Given the description of an element on the screen output the (x, y) to click on. 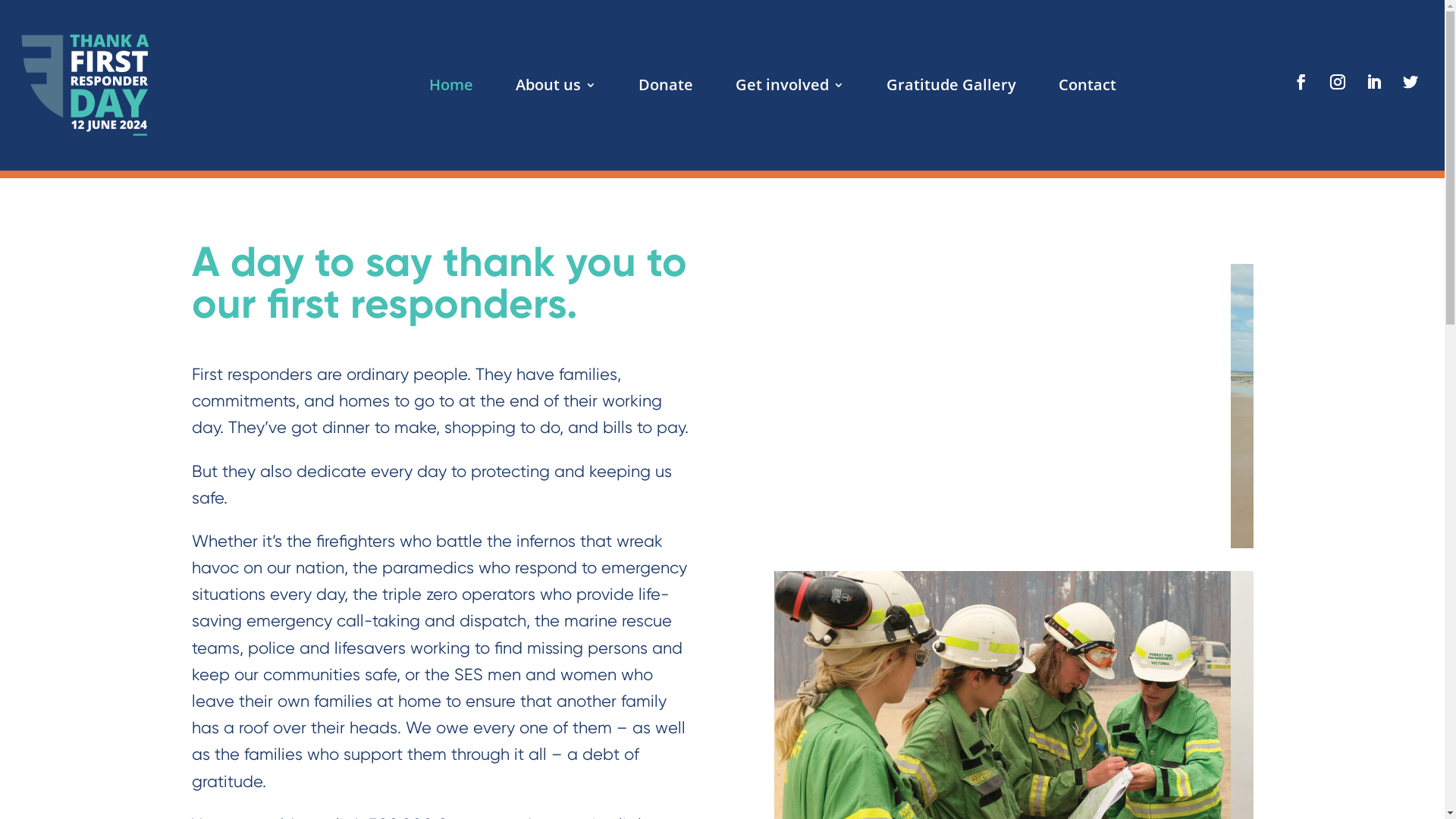
Follow on Facebook Element type: hover (1301, 81)
Home Element type: text (451, 87)
Logo 2024 Element type: hover (84, 84)
Donate Element type: text (665, 87)
Gratitude Gallery Element type: text (951, 87)
Get involved Element type: text (789, 87)
Follow on LinkedIn Element type: hover (1373, 81)
Follow on Instagram Element type: hover (1337, 81)
Contact Element type: text (1087, 87)
About us Element type: text (555, 87)
Follow on Twitter Element type: hover (1410, 81)
